Given the description of an element on the screen output the (x, y) to click on. 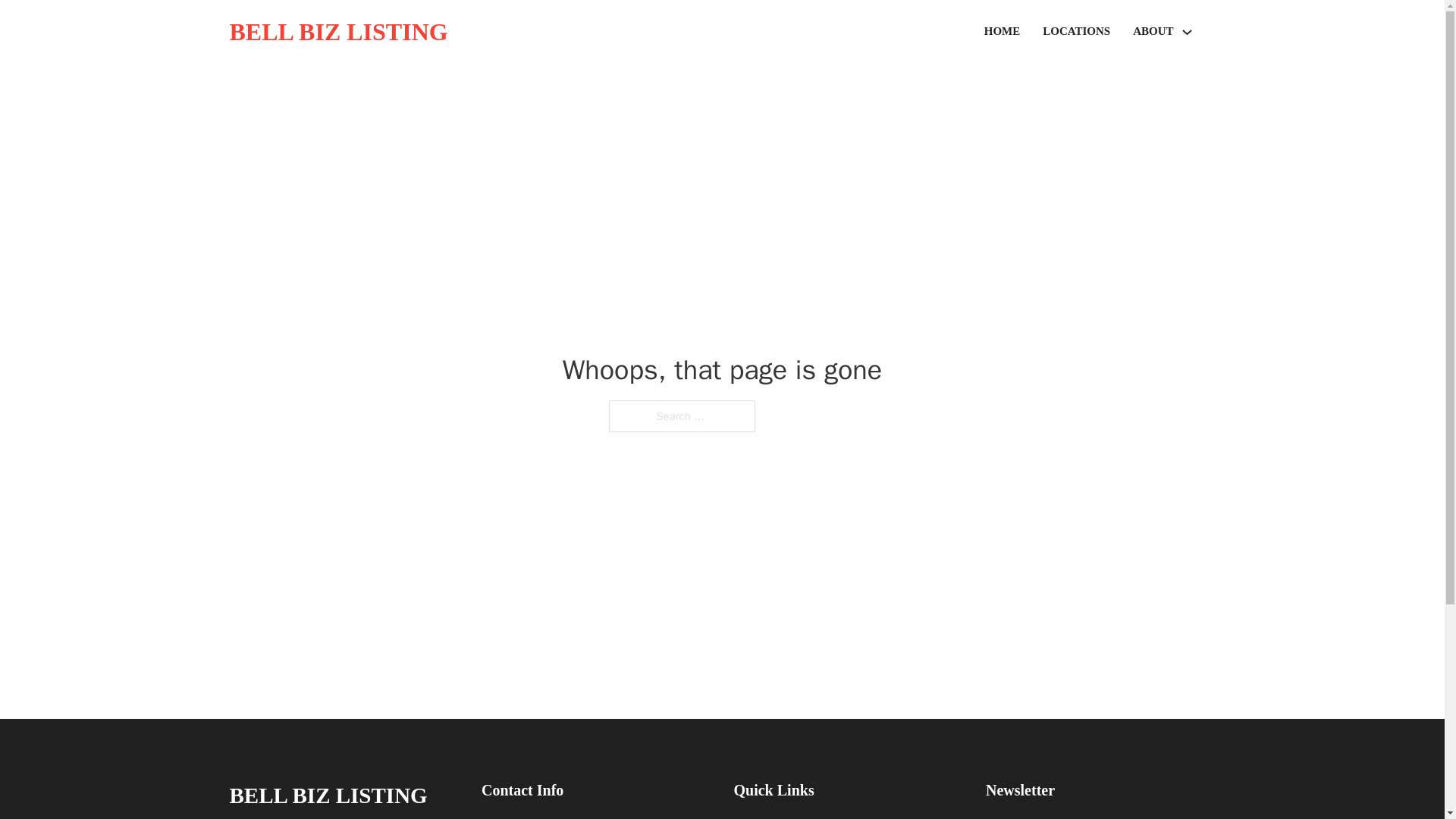
BELL BIZ LISTING (327, 795)
HOME (1002, 31)
BELL BIZ LISTING (337, 31)
LOCATIONS (1075, 31)
